Given the description of an element on the screen output the (x, y) to click on. 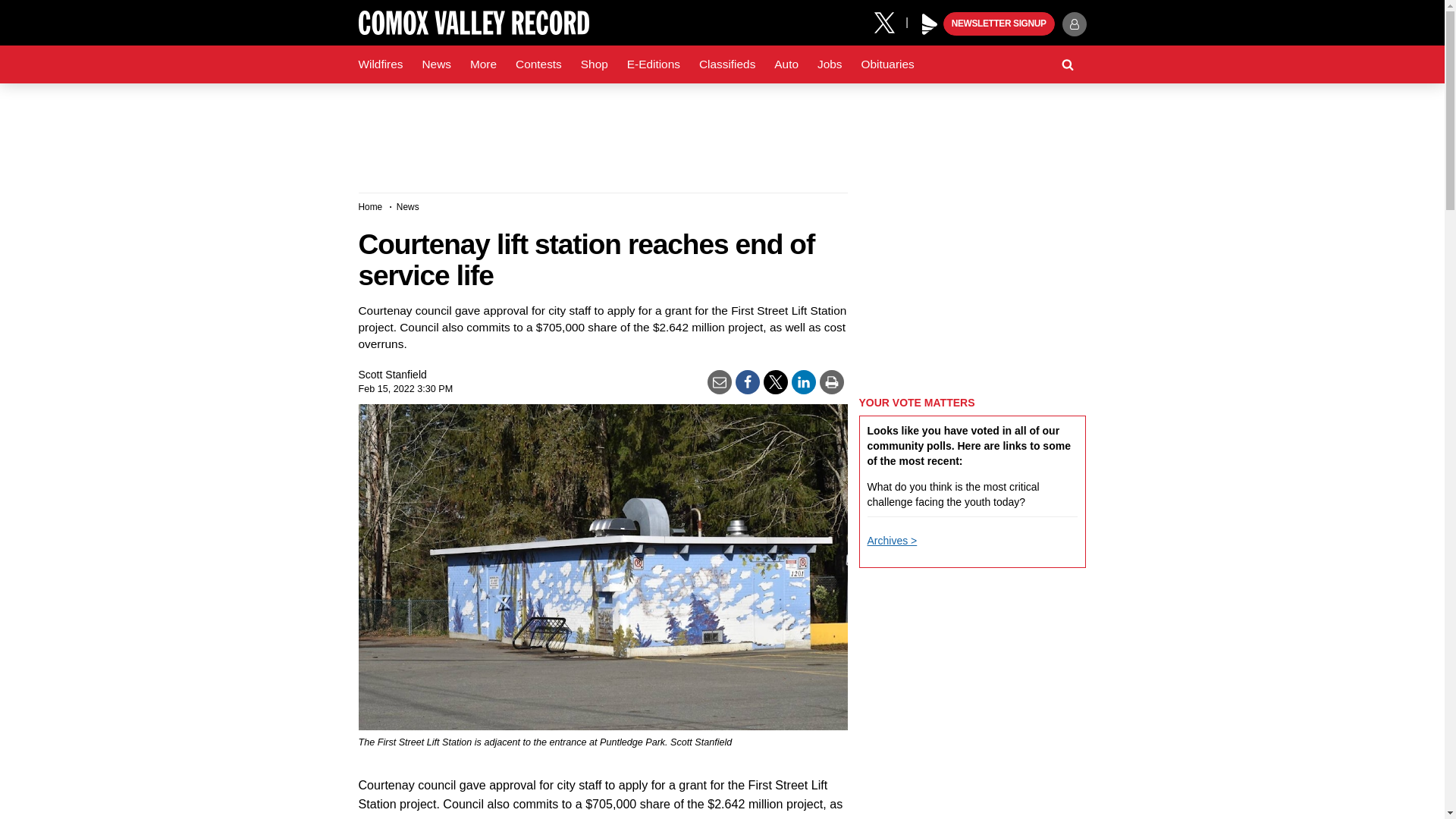
News (435, 64)
NEWSLETTER SIGNUP (998, 24)
Wildfires (380, 64)
X (889, 21)
Play (929, 24)
Black Press Media (929, 24)
